Given the description of an element on the screen output the (x, y) to click on. 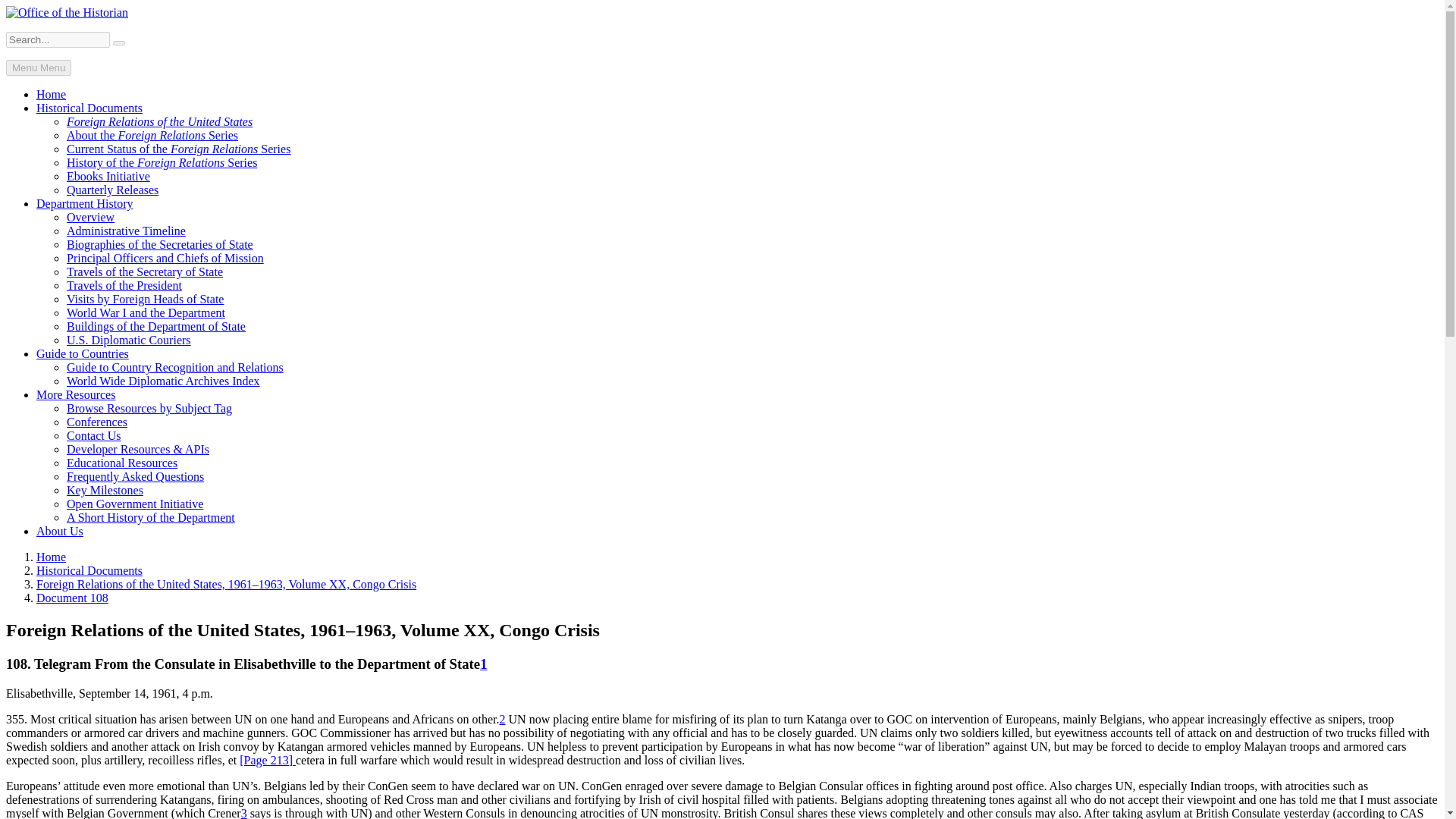
Historical Documents (89, 107)
Home (50, 93)
Guide to Country Recognition and Relations (174, 367)
Quarterly Releases (112, 189)
Menu Menu (38, 67)
History of the Foreign Relations Series (161, 162)
Key Milestones (104, 490)
Current Status of the Foreign Relations Series (177, 148)
Department History (84, 203)
Travels of the Secretary of State (144, 271)
